Given the description of an element on the screen output the (x, y) to click on. 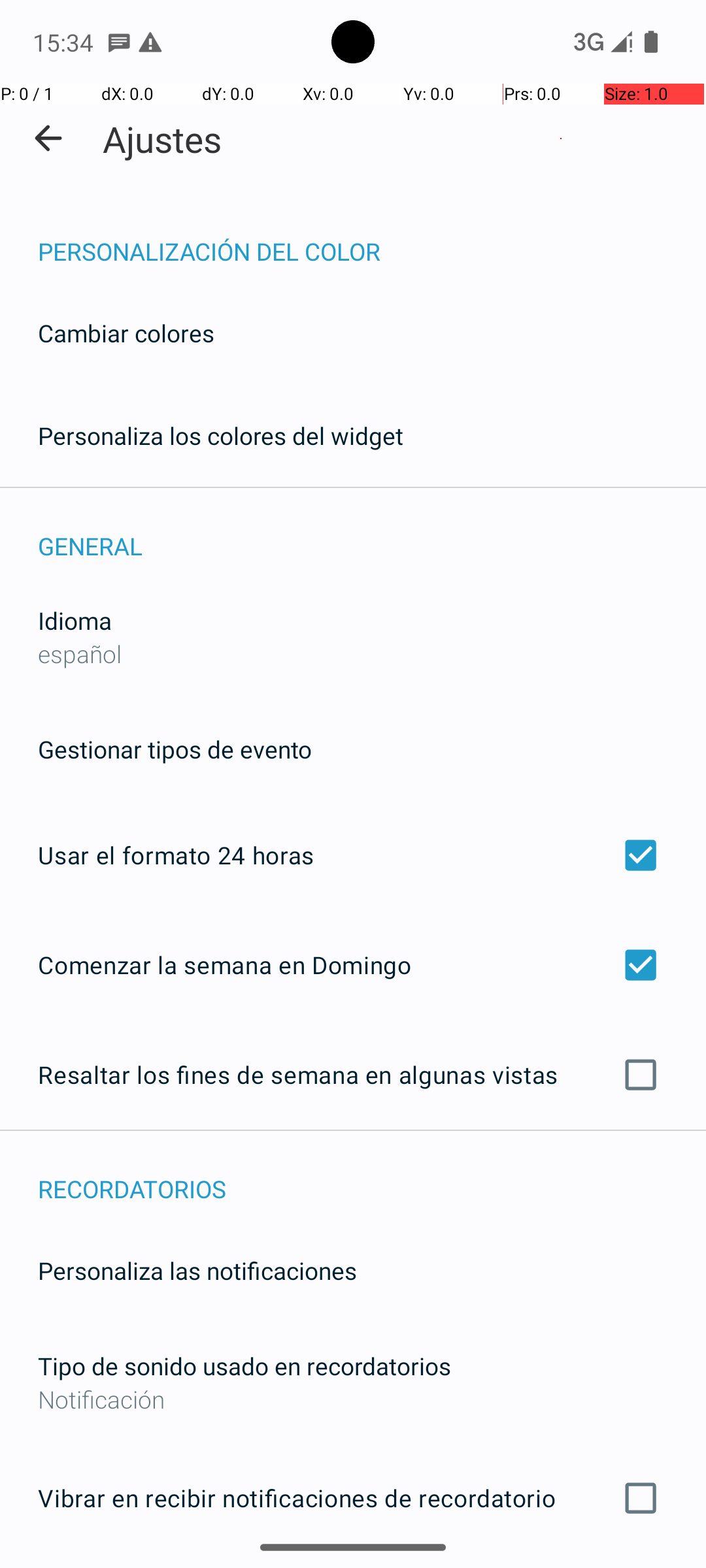
PERSONALIZACIÓN DEL COLOR Element type: android.widget.TextView (371, 237)
RECORDATORIOS Element type: android.widget.TextView (371, 1174)
Personaliza los colores del widget Element type: android.widget.TextView (220, 435)
Idioma Element type: android.widget.TextView (74, 620)
español Element type: android.widget.TextView (79, 653)
Usar el formato 24 horas Element type: android.widget.CheckBox (352, 855)
Comenzar la semana en Domingo Element type: android.widget.CheckBox (352, 964)
Resaltar los fines de semana en algunas vistas Element type: android.widget.CheckBox (352, 1074)
Personaliza las notificaciones Element type: android.widget.TextView (196, 1270)
Tipo de sonido usado en recordatorios Element type: android.widget.TextView (244, 1365)
Vibrar en recibir notificaciones de recordatorio Element type: android.widget.CheckBox (352, 1497)
Repetir recordatorios hasta ser descartados Element type: android.widget.CheckBox (352, 1567)
